Given the description of an element on the screen output the (x, y) to click on. 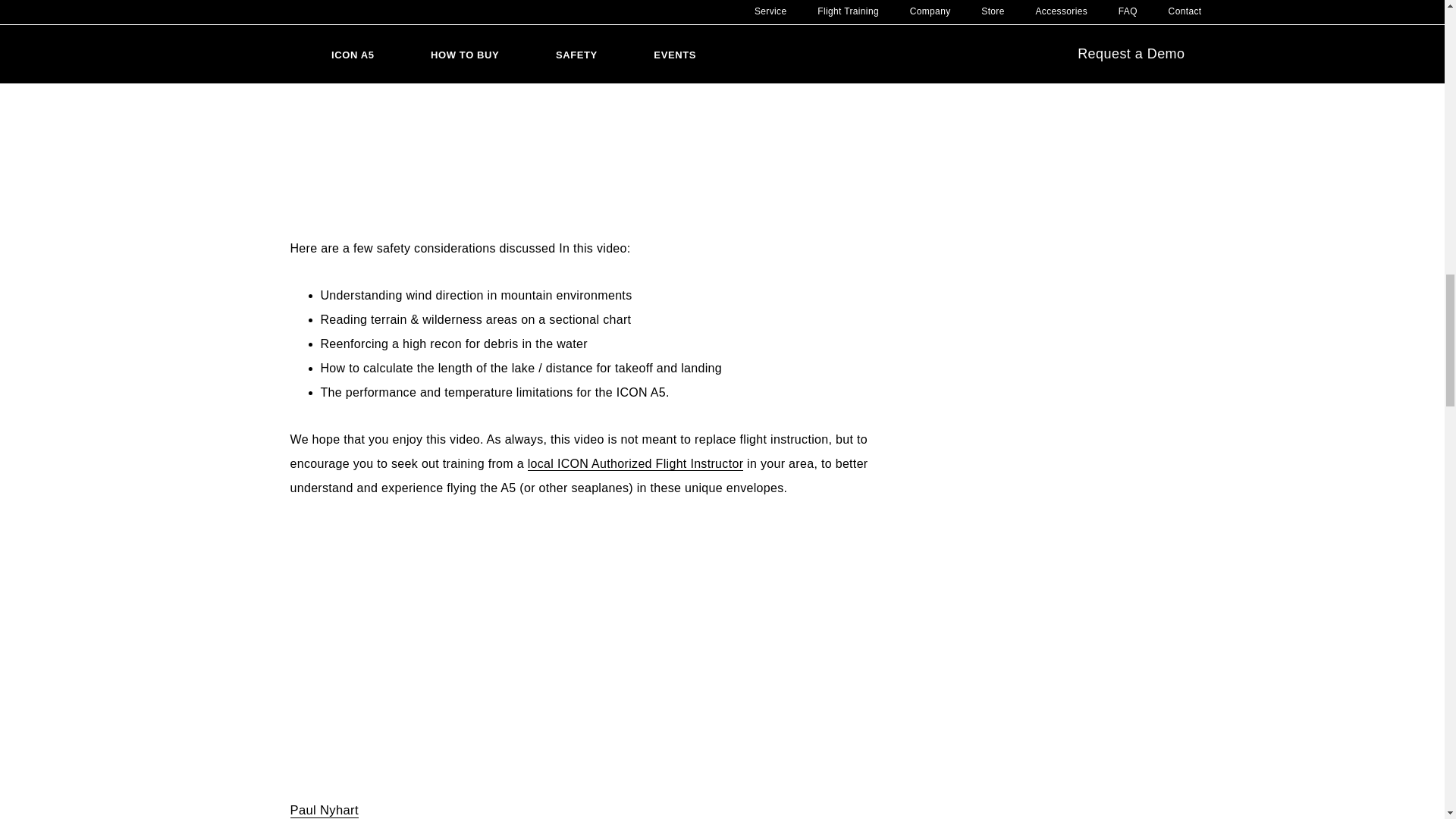
local ICON Authorized Flight Instructor (635, 463)
Paul Nyhart (323, 810)
